Given the description of an element on the screen output the (x, y) to click on. 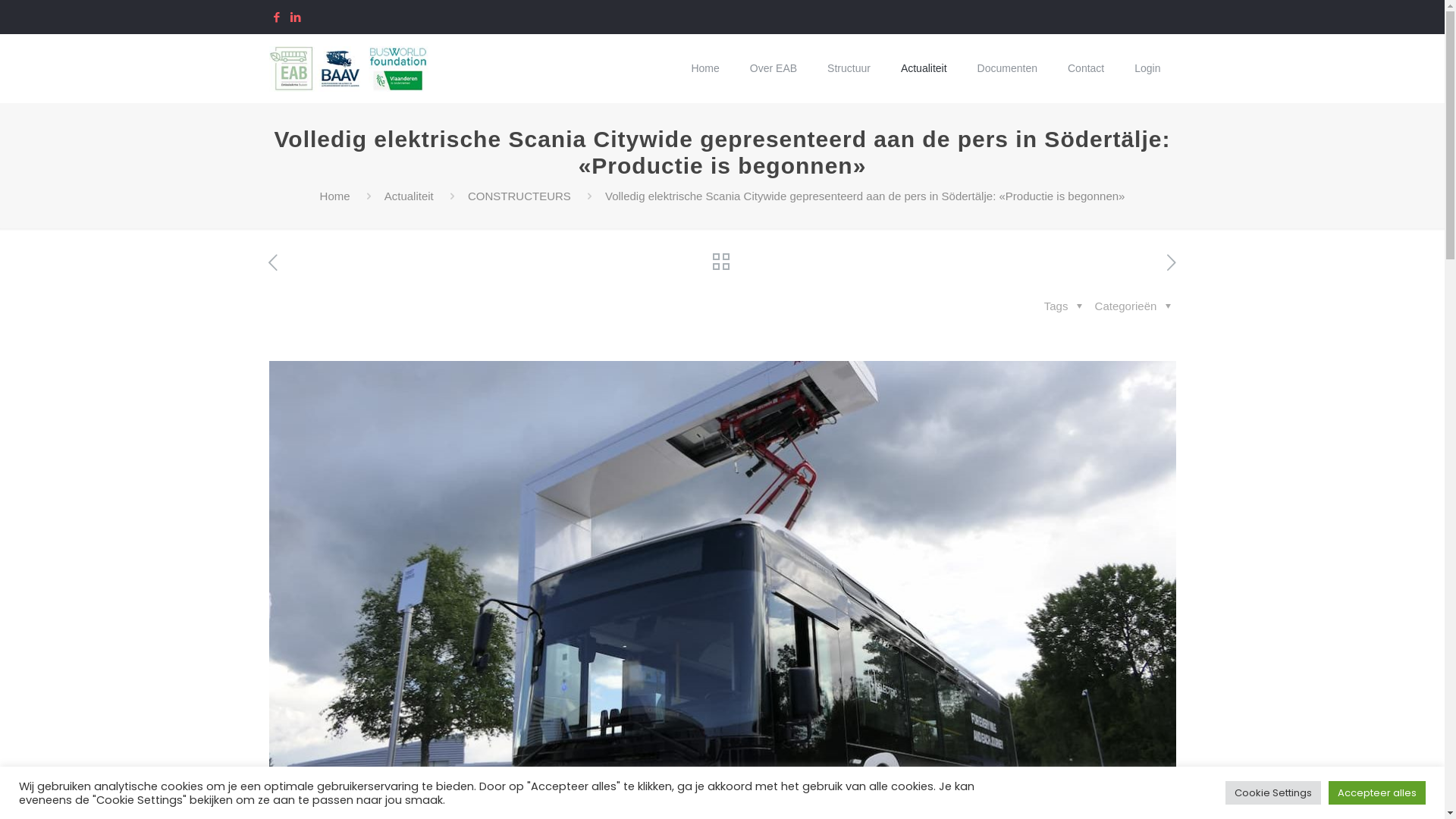
Cookie Settings Element type: text (1273, 792)
Login Element type: text (1147, 68)
Actualiteit Element type: text (923, 68)
Contact Element type: text (1085, 68)
Over EAB Element type: text (773, 68)
Accepteer alles Element type: text (1376, 792)
Home Element type: text (704, 68)
Actualiteit Element type: text (408, 195)
CONSTRUCTEURS Element type: text (519, 195)
Home Element type: text (335, 195)
Structuur Element type: text (848, 68)
BAAV - EAB Element type: hover (348, 68)
Documenten Element type: text (1007, 68)
